Given the description of an element on the screen output the (x, y) to click on. 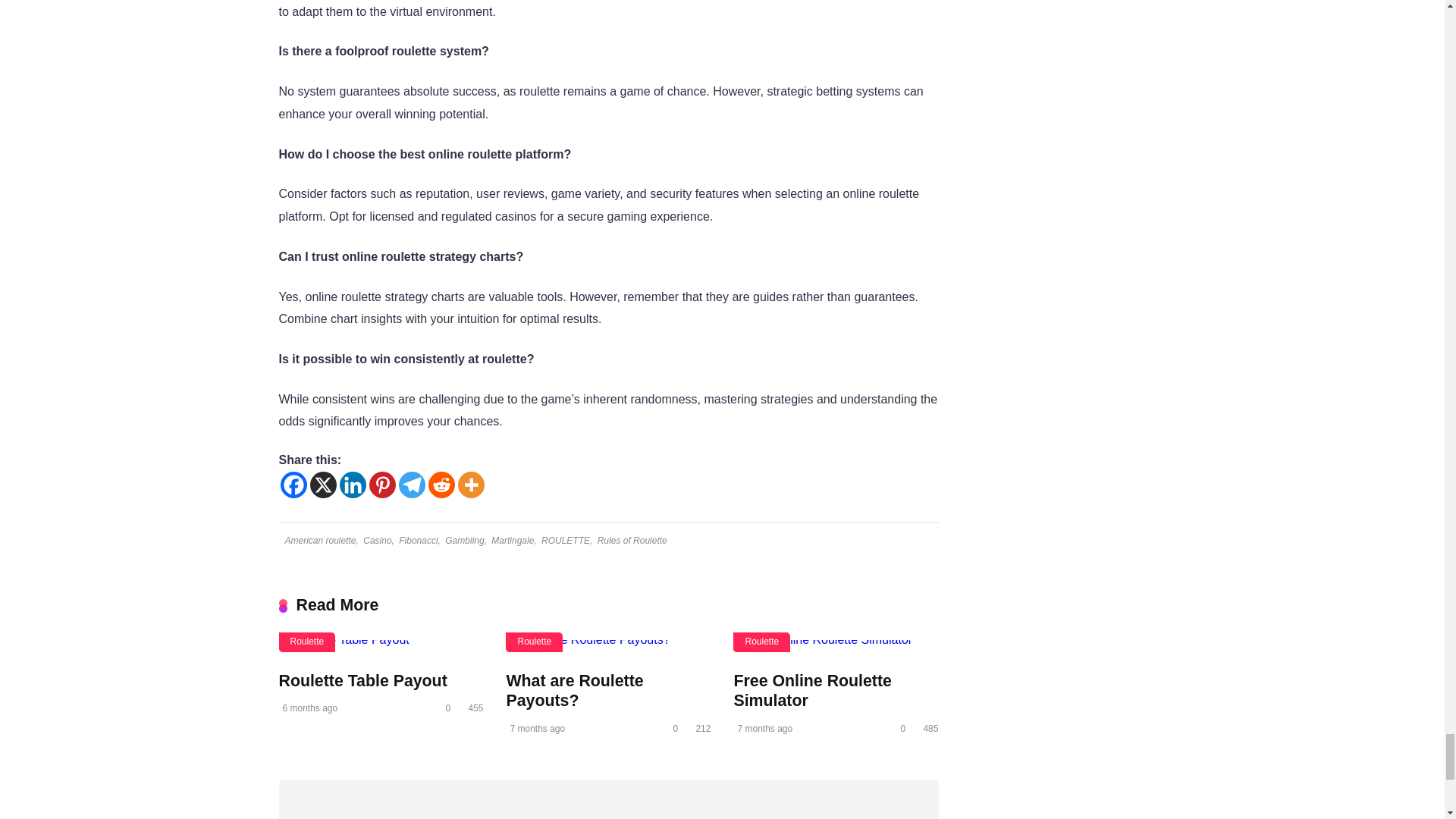
Roulette Table Payout (362, 680)
Roulette Table Payout (381, 645)
What are Roulette Payouts? (574, 690)
Pinterest (381, 484)
Telegram (411, 484)
X (322, 484)
What are Roulette Payouts? (607, 645)
More (471, 484)
Reddit (441, 484)
Linkedin (352, 484)
